Given the description of an element on the screen output the (x, y) to click on. 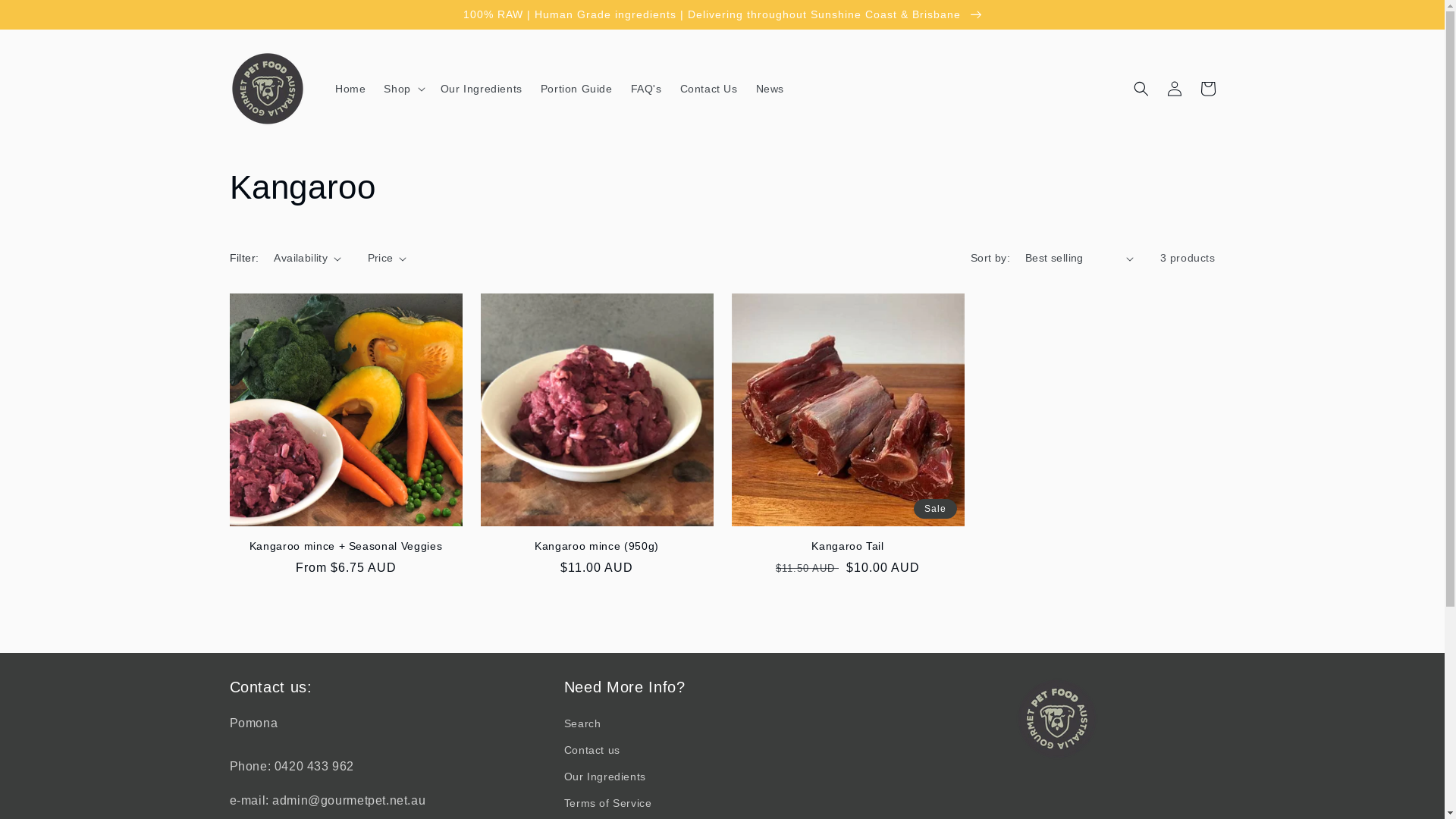
Our Ingredients Element type: text (605, 776)
Kangaroo mince + Seasonal Veggies Element type: text (345, 545)
News Element type: text (769, 88)
Contact Us Element type: text (708, 88)
Home Element type: text (350, 88)
Kangaroo Tail Element type: text (847, 545)
Log in Element type: text (1173, 88)
Search Element type: text (582, 725)
Portion Guide Element type: text (576, 88)
FAQ's Element type: text (646, 88)
Our Ingredients Element type: text (481, 88)
Kangaroo mince (950g) Element type: text (596, 545)
Contact us Element type: text (592, 750)
Cart Element type: text (1206, 88)
Terms of Service Element type: text (608, 803)
